Given the description of an element on the screen output the (x, y) to click on. 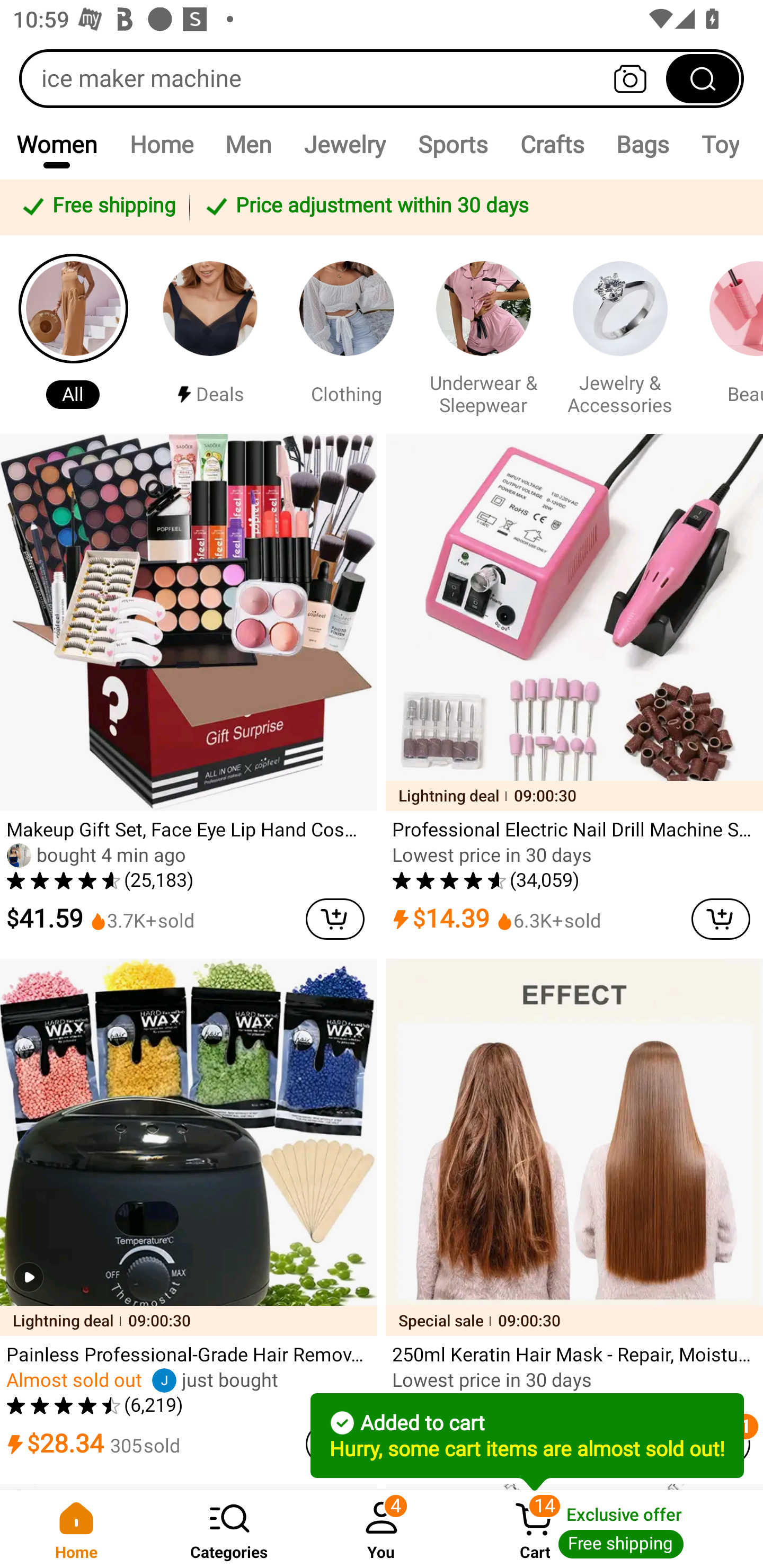
ice maker machine (381, 78)
Women (56, 144)
Home (161, 144)
Men (248, 144)
Jewelry (344, 144)
Sports (452, 144)
Crafts (551, 144)
Bags (642, 144)
Toy (720, 144)
Free shipping (97, 206)
Price adjustment within 30 days (472, 206)
All (72, 333)
￼￼Deals (209, 333)
Clothing (346, 333)
Underwear & Sleepwear (482, 333)
Jewelry & Accessories (619, 333)
cart delete (334, 918)
cart delete (720, 918)
Home (76, 1528)
Categories (228, 1528)
You 4 You (381, 1528)
Cart 14 Cart Exclusive offer (610, 1528)
